Given the description of an element on the screen output the (x, y) to click on. 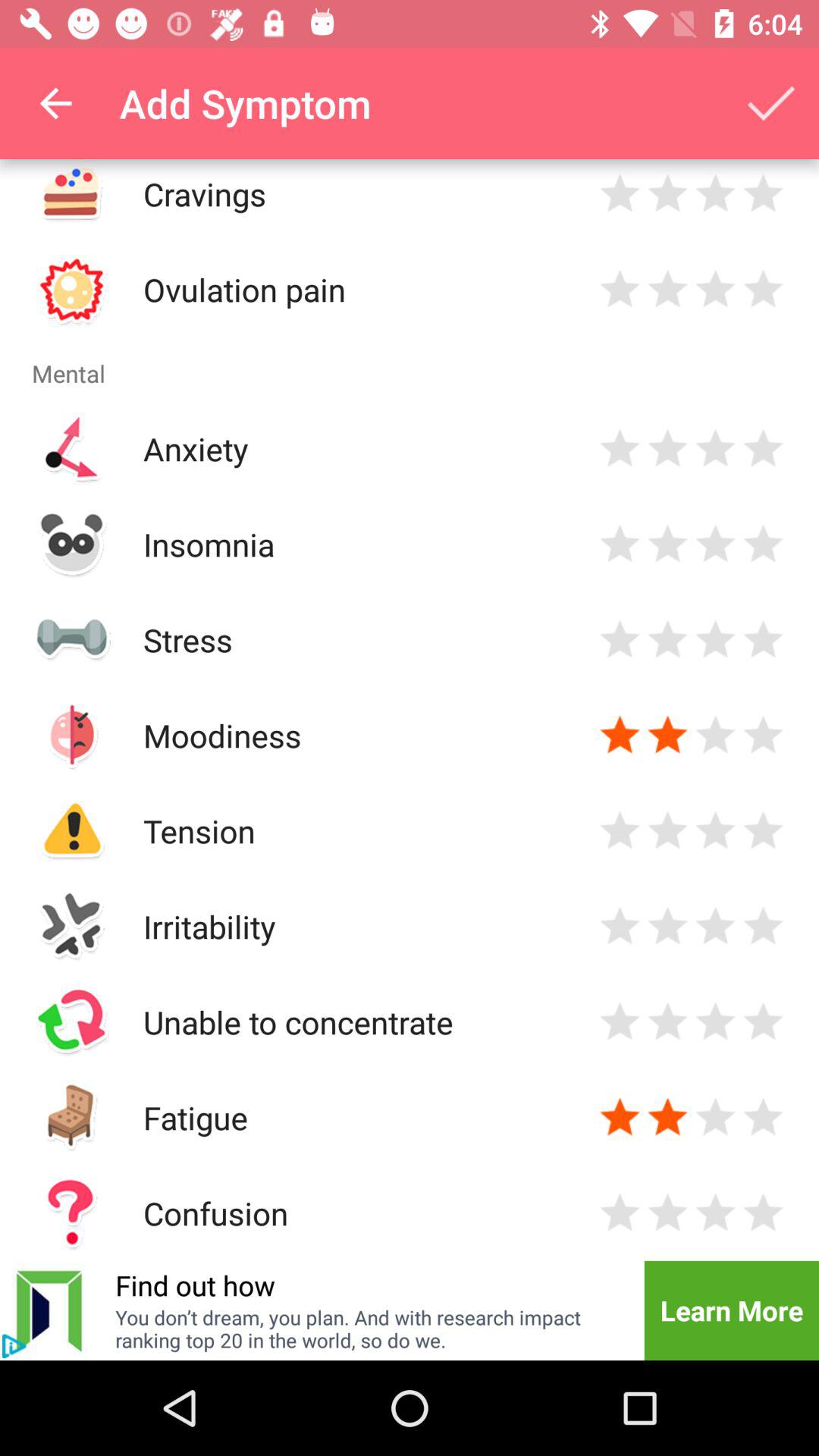
rate 1 star (619, 1117)
